Given the description of an element on the screen output the (x, y) to click on. 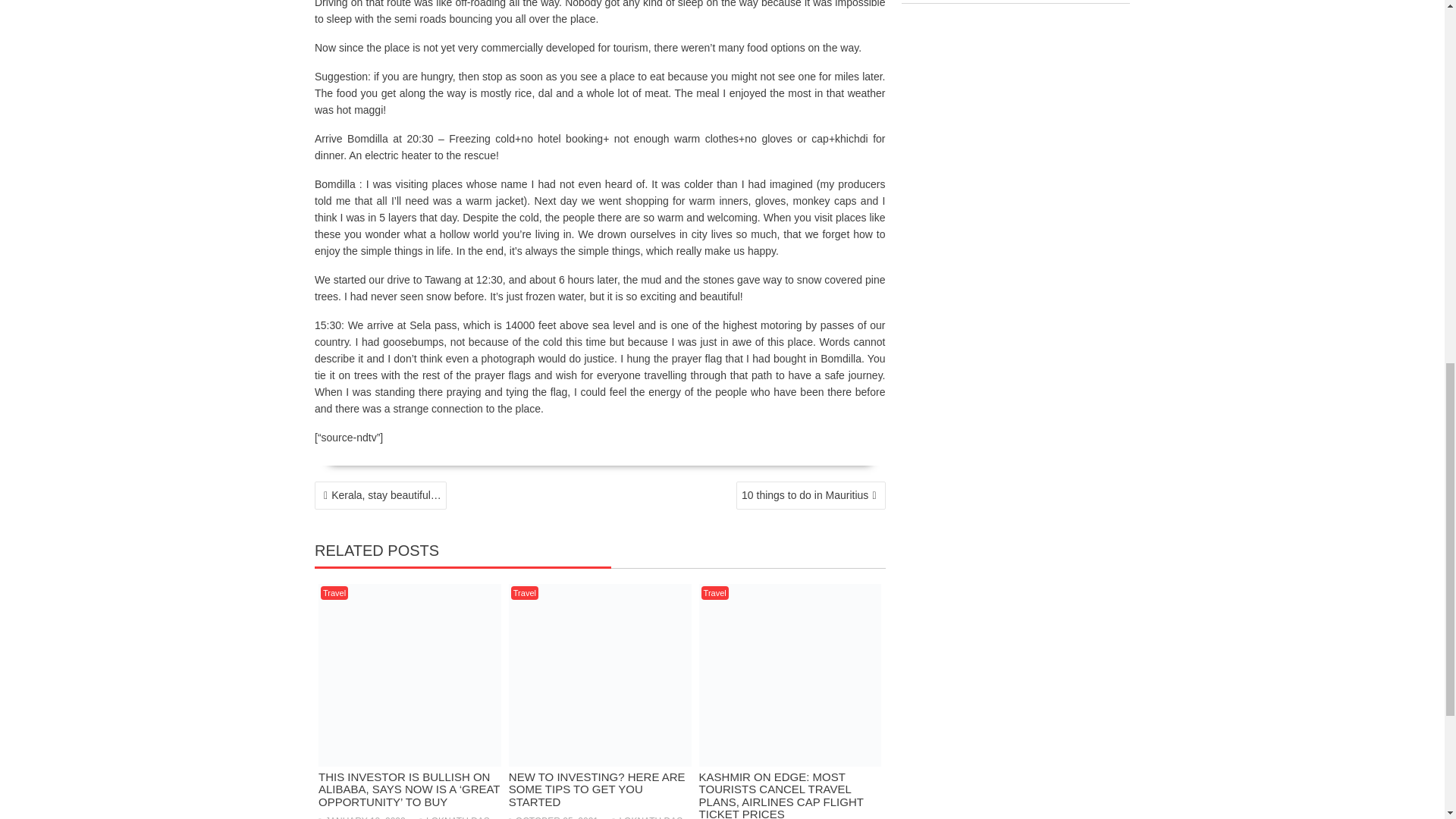
JANUARY 18, 2022 (362, 817)
10 things to do in Mauritius (810, 495)
Travel (333, 592)
LOKNATH DAS (454, 817)
